Given the description of an element on the screen output the (x, y) to click on. 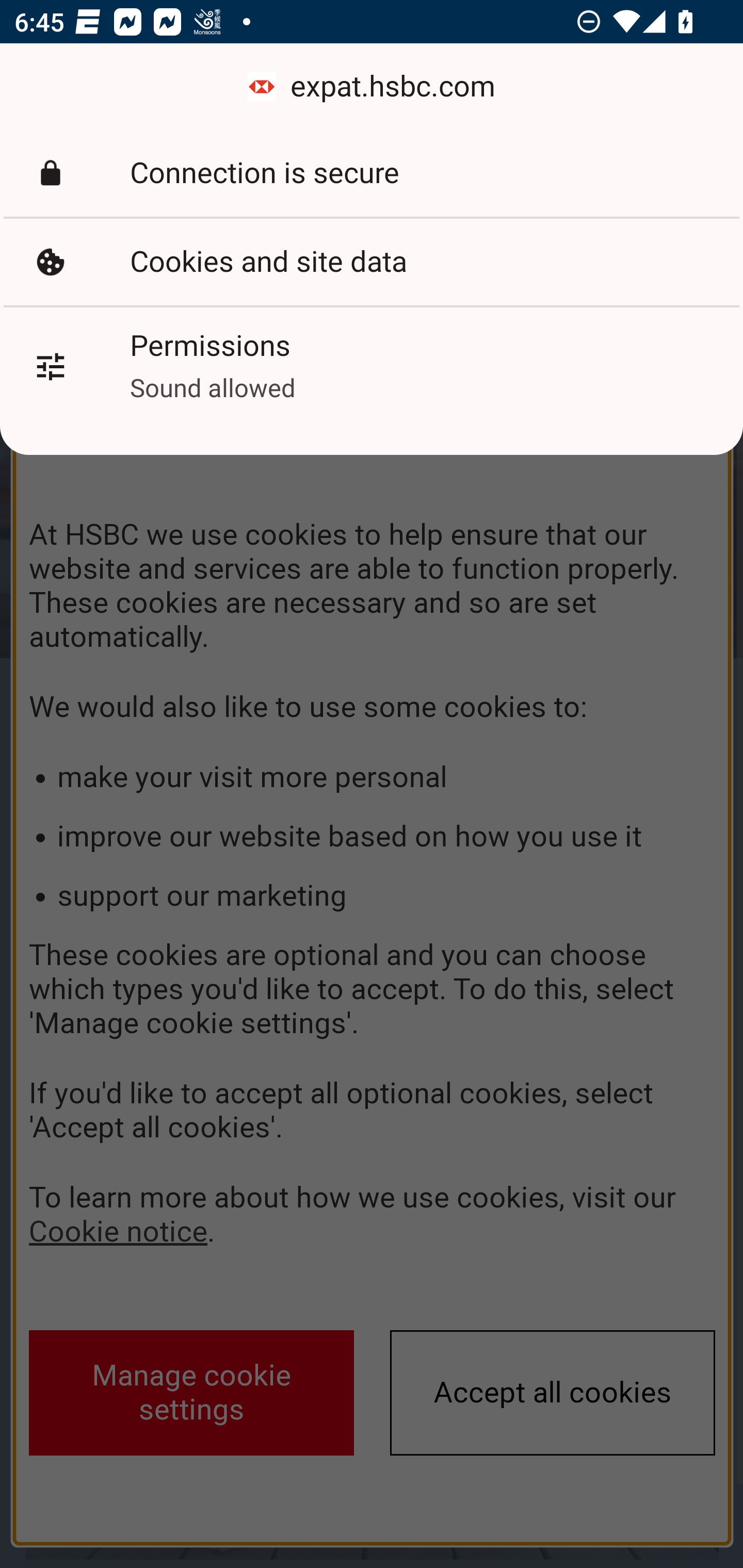
expat.hsbc.com (371, 86)
Connection is secure (371, 173)
Cookies and site data (371, 261)
Permissions Sound allowed (371, 366)
